Given the description of an element on the screen output the (x, y) to click on. 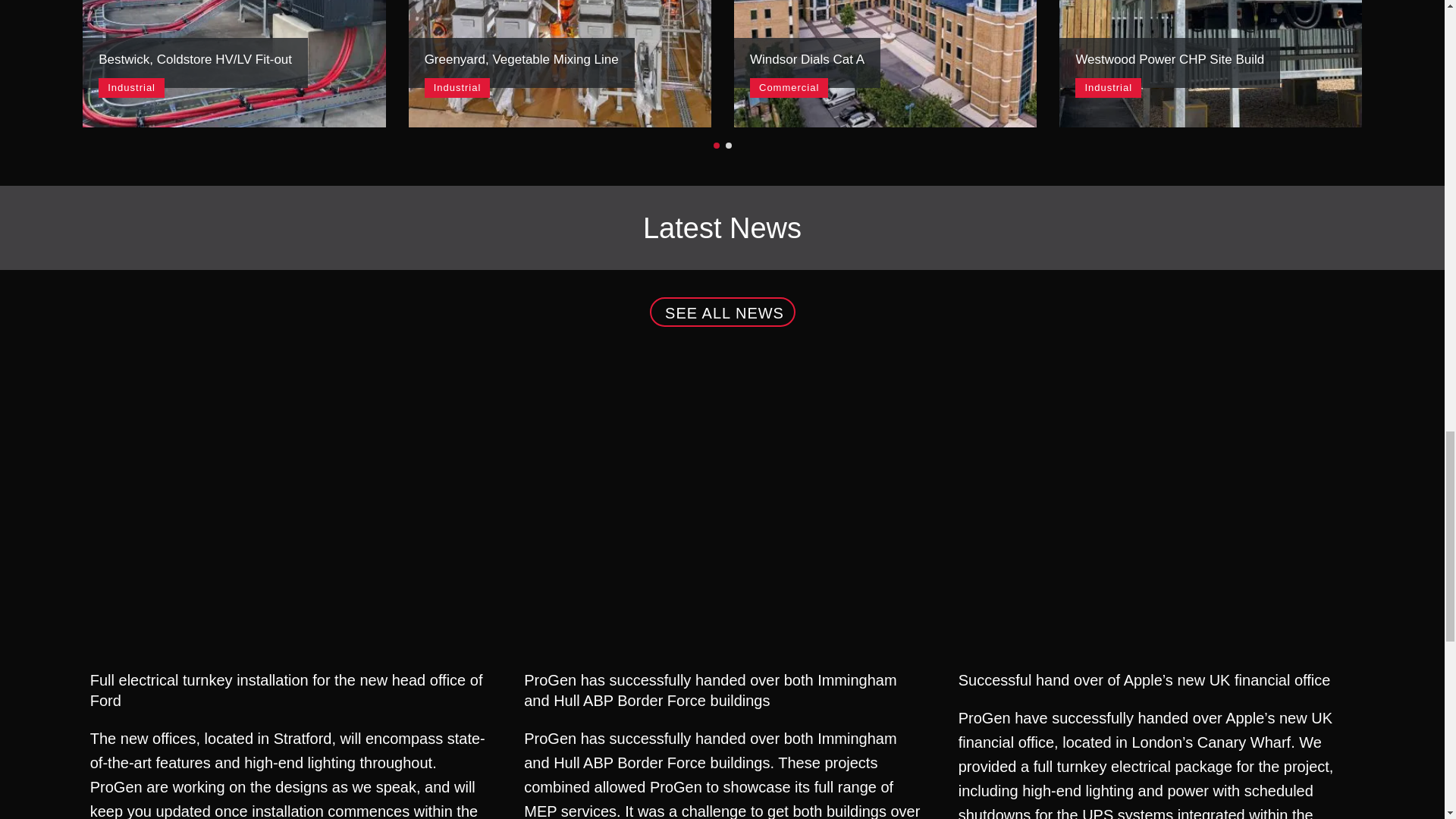
SEE ALL NEWS (1210, 63)
